Given the description of an element on the screen output the (x, y) to click on. 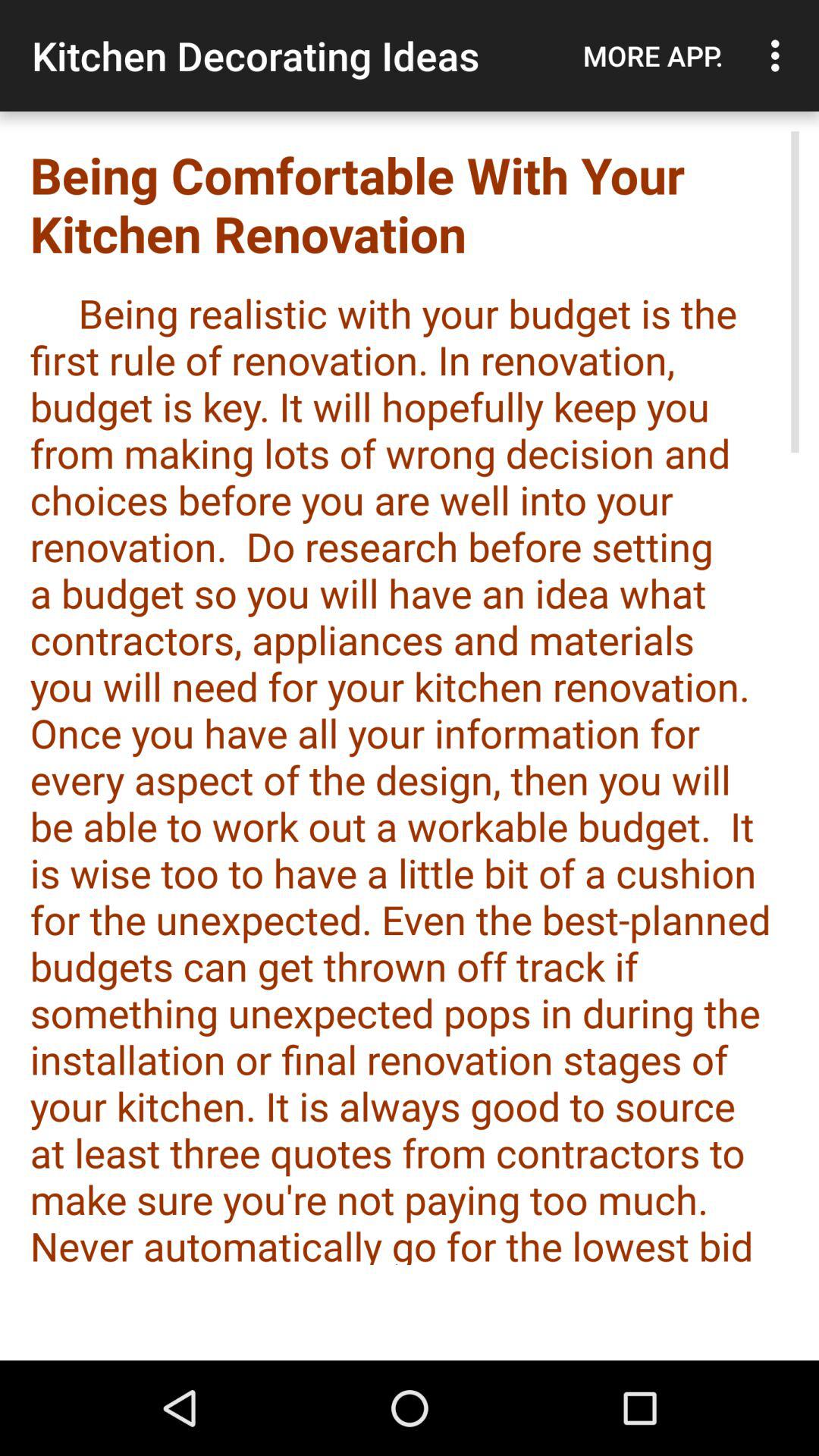
click the item next to the more app. (779, 55)
